Given the description of an element on the screen output the (x, y) to click on. 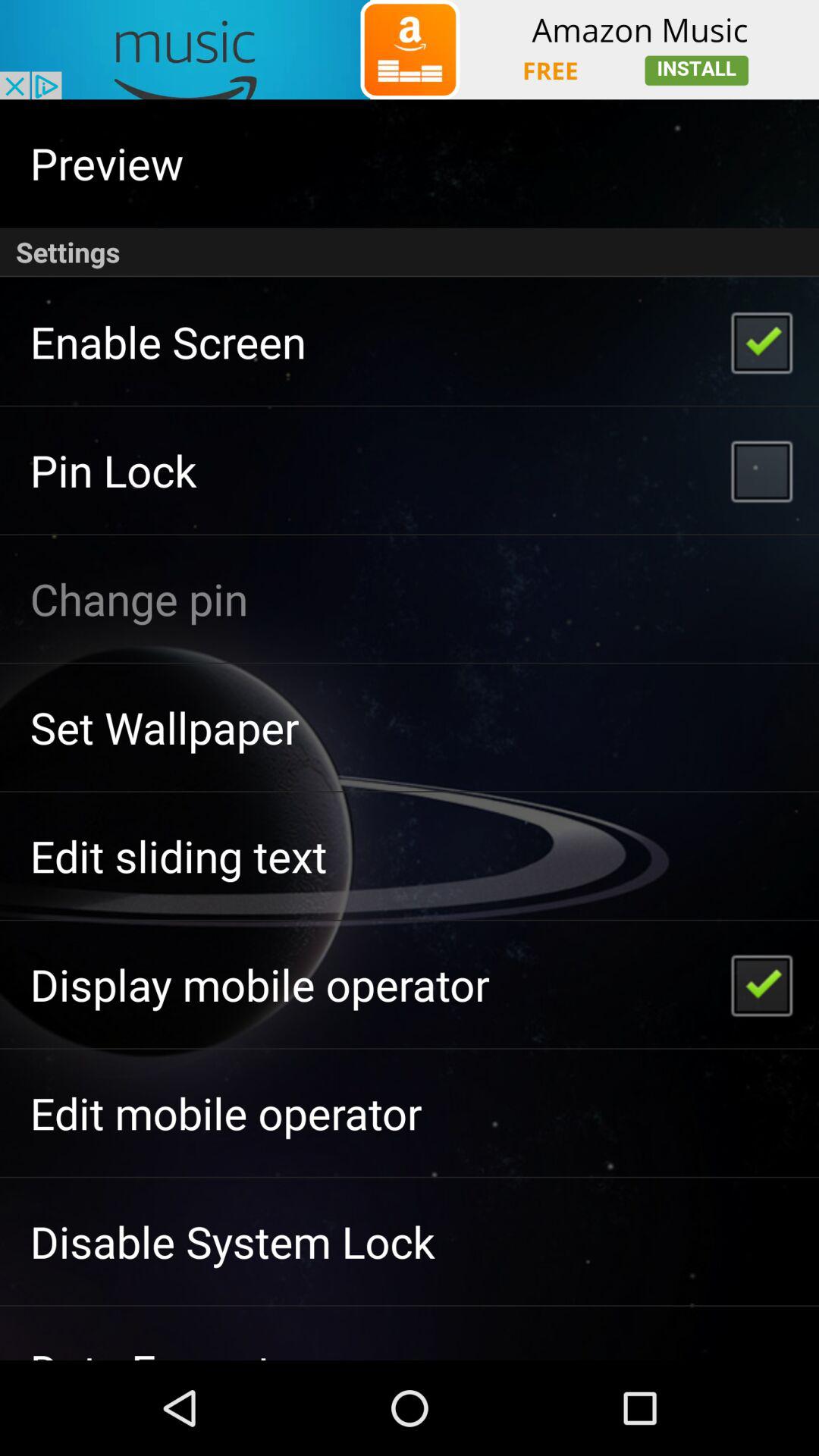
advertisement where on left you close out by hitting x or install clicking on green 'install button (409, 49)
